Given the description of an element on the screen output the (x, y) to click on. 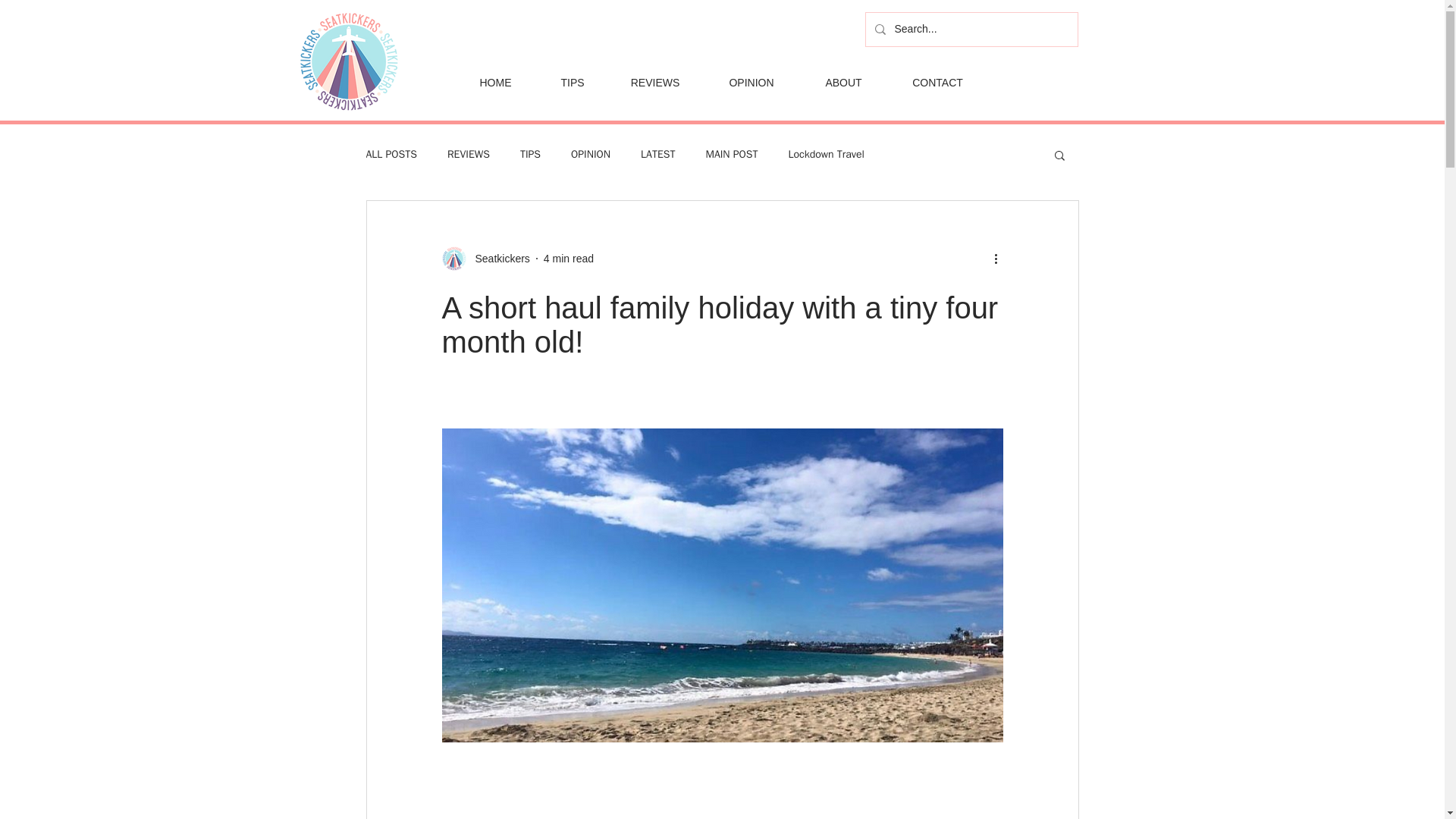
TIPS (572, 82)
Seatkickers (485, 258)
OPINION (750, 82)
OPINION (590, 154)
Lockdown Travel (826, 154)
ALL POSTS (390, 154)
REVIEWS (467, 154)
HOME (494, 82)
CONTACT (937, 82)
4 min read (568, 257)
